Given the description of an element on the screen output the (x, y) to click on. 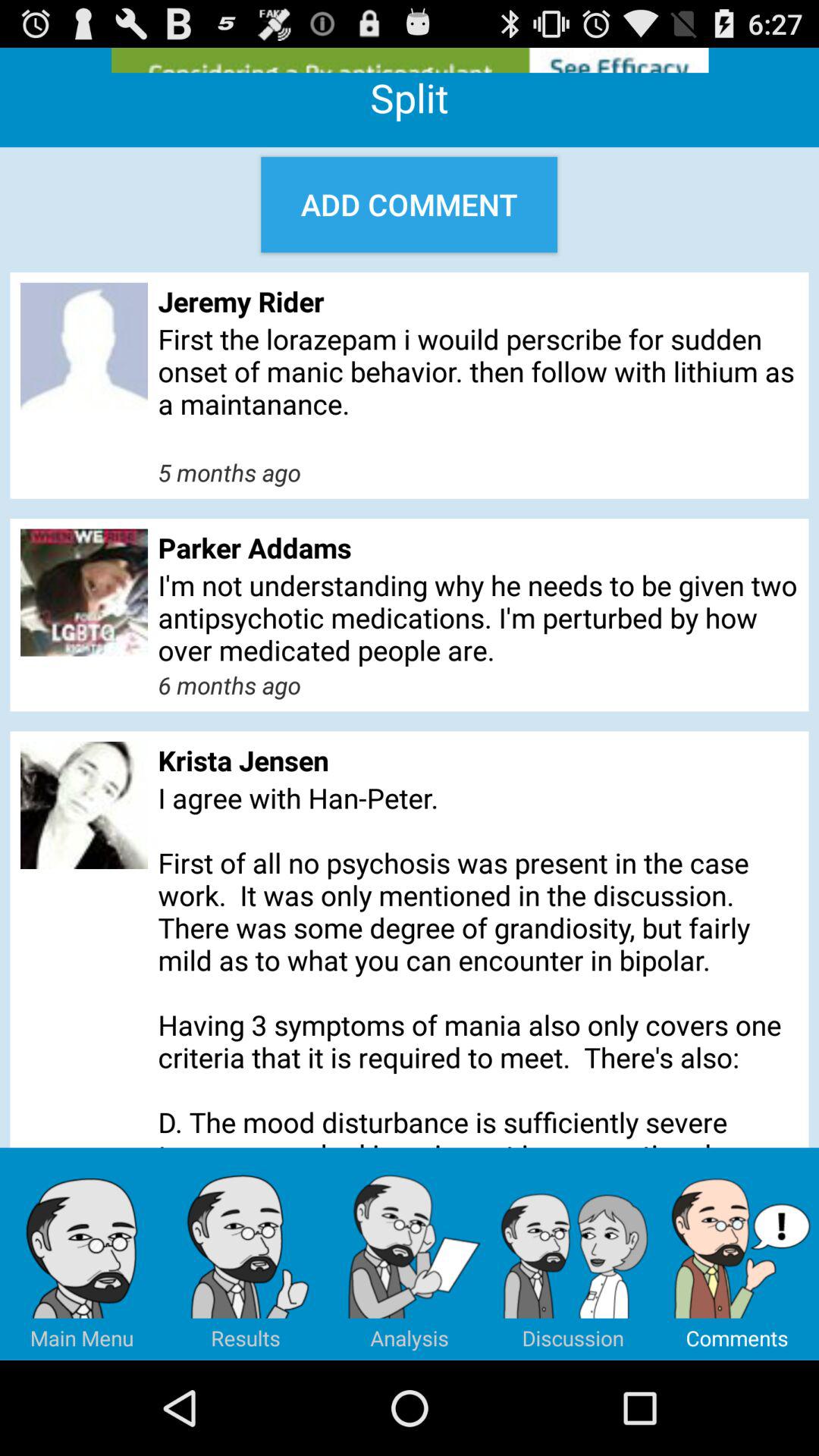
flip until the jeremy rider item (478, 301)
